Given the description of an element on the screen output the (x, y) to click on. 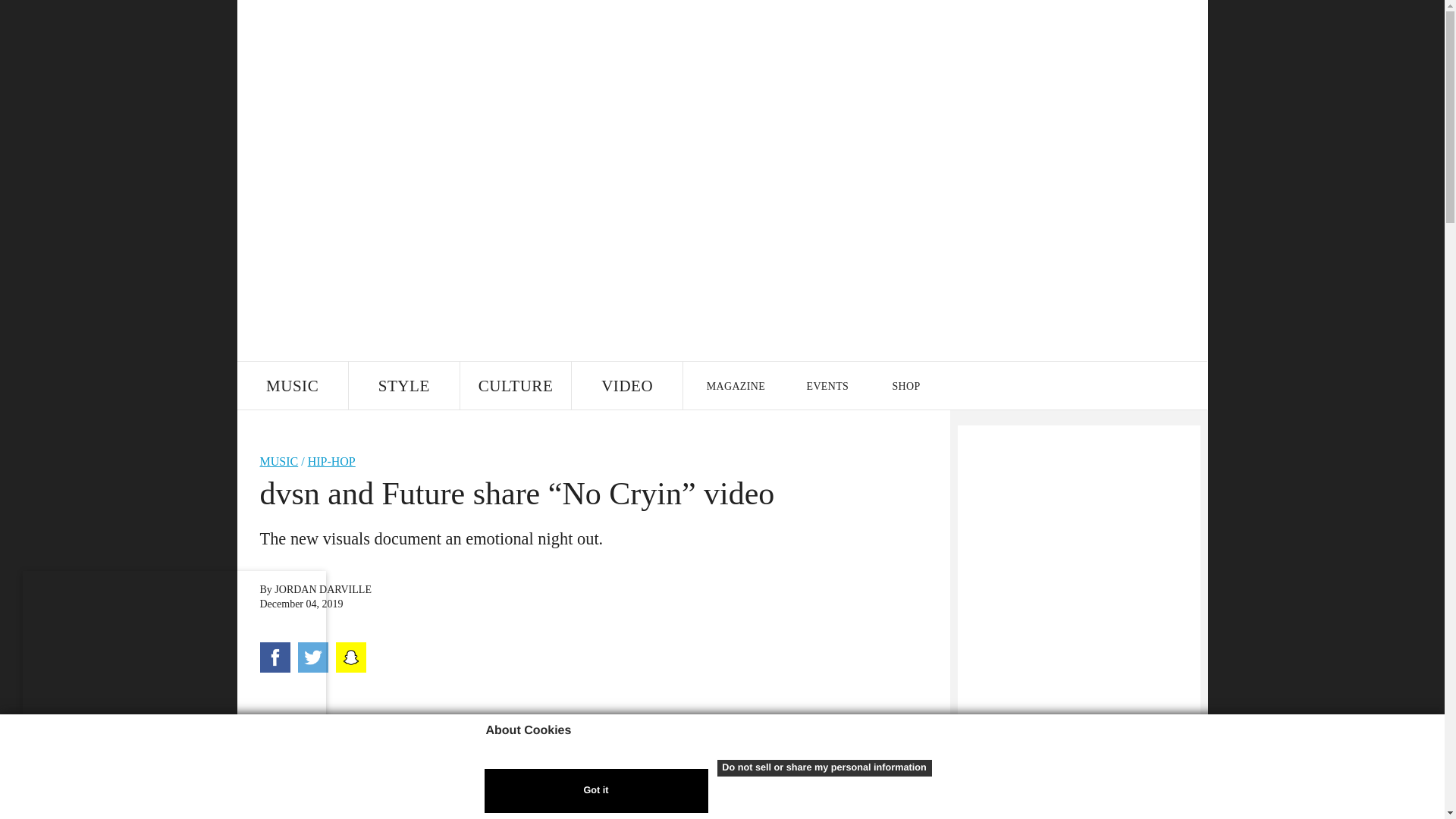
Got it (595, 791)
Do not sell or share my personal information (824, 768)
